Given the description of an element on the screen output the (x, y) to click on. 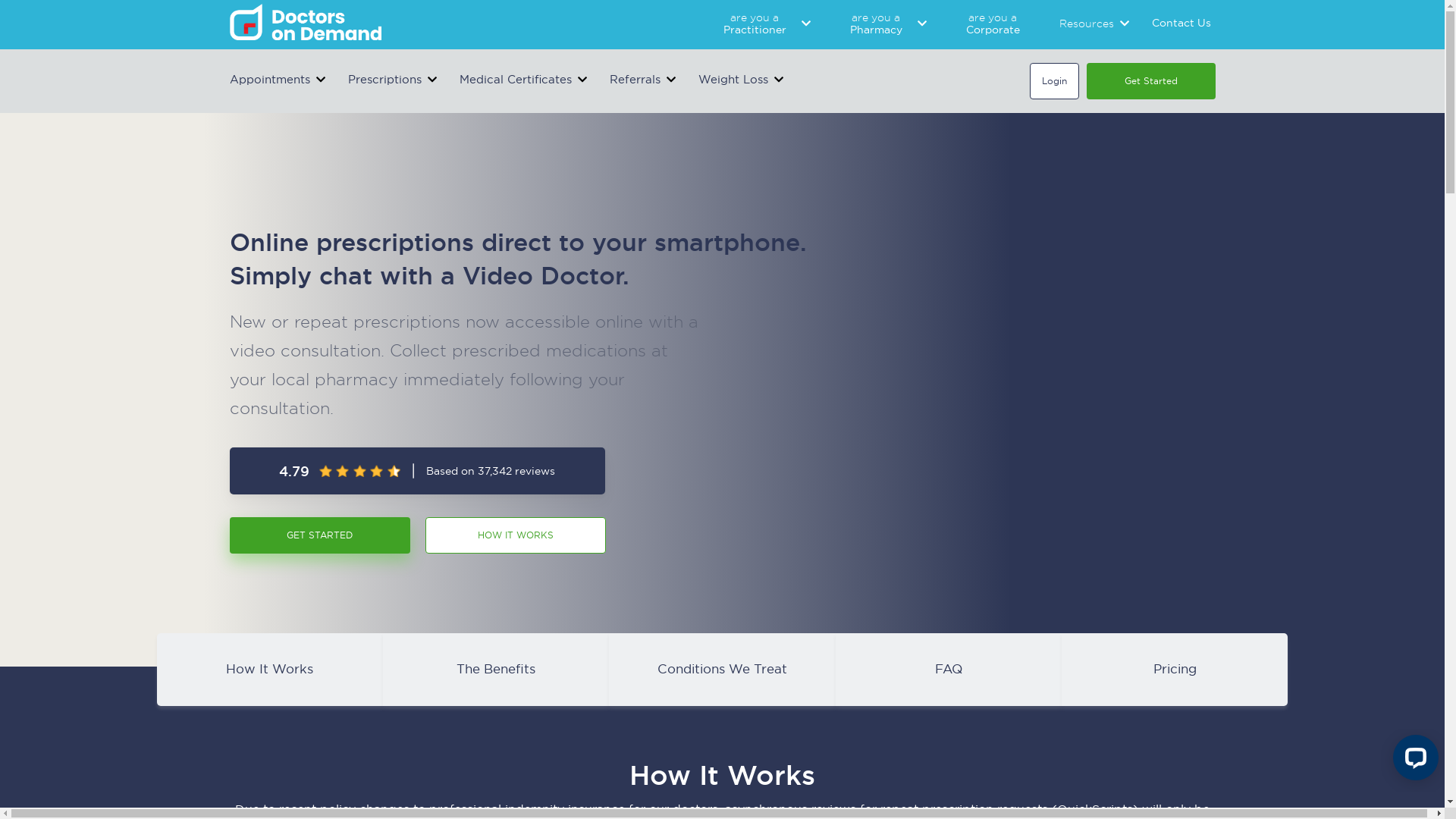
Get Started Element type: text (1149, 80)
Referrals Element type: text (634, 79)
The Benefits Element type: text (495, 669)
Weight Loss Element type: text (732, 79)
LiveChat chat widget Element type: hover (1412, 760)
Prescriptions Element type: text (383, 79)
Pricing Element type: text (1174, 669)
Medical Certificates Element type: text (515, 79)
are you a
Corporate Element type: text (992, 22)
are you a
Pharmacy Element type: text (875, 22)
Login Element type: text (1054, 80)
How It Works Element type: text (269, 669)
HOW IT WORKS Element type: text (522, 534)
HOW IT WORKS Element type: text (514, 535)
Conditions We Treat Element type: text (721, 669)
are you a
Practitioner Element type: text (754, 22)
Appointments Element type: text (269, 79)
Contact Us Element type: text (1180, 22)
FAQ Element type: text (948, 669)
GET STARTED Element type: text (319, 535)
